Given the description of an element on the screen output the (x, y) to click on. 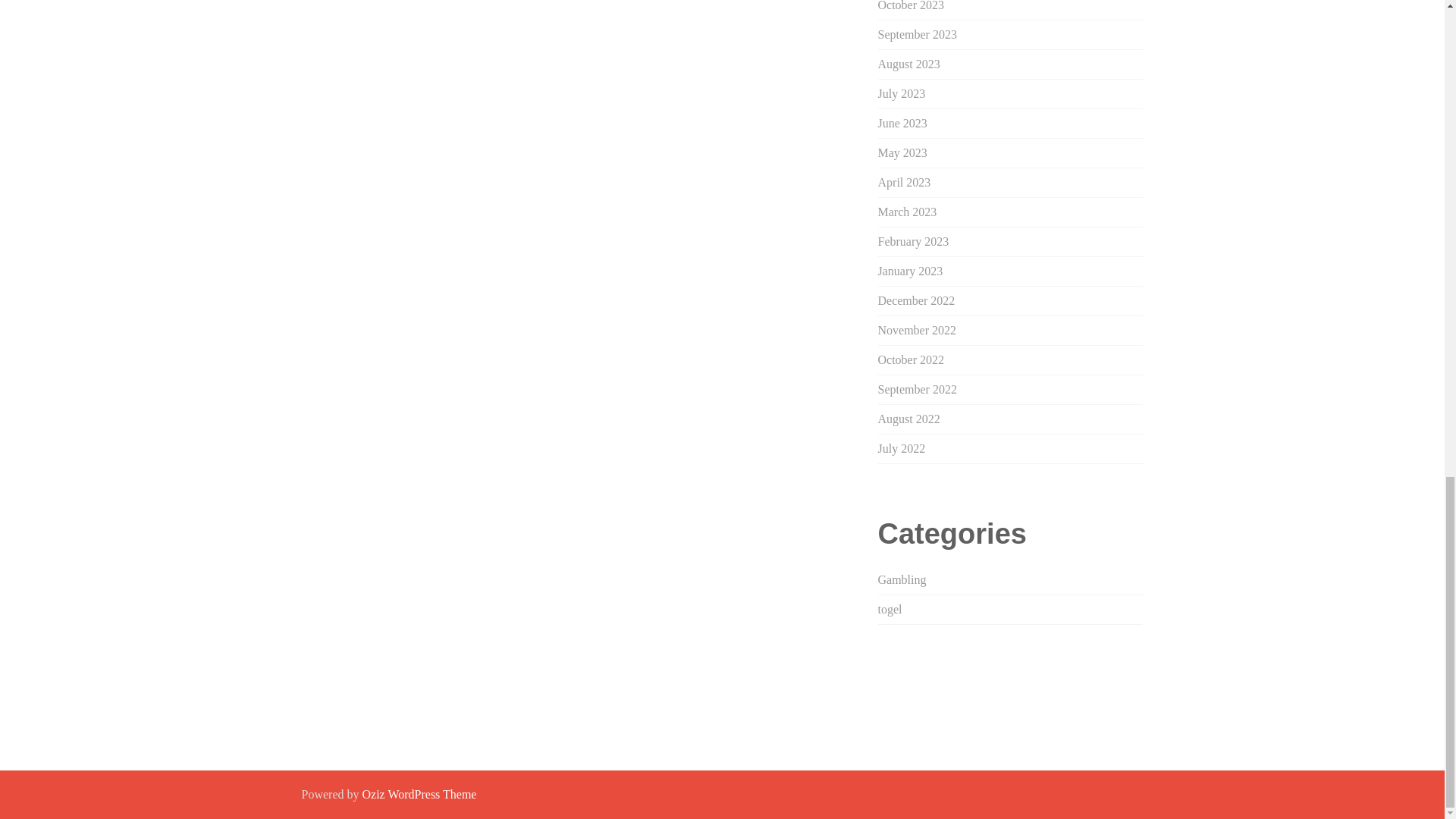
January 2023 (910, 270)
March 2023 (907, 211)
April 2023 (904, 182)
September 2023 (916, 33)
July 2023 (901, 92)
February 2023 (913, 241)
October 2023 (910, 5)
October 2022 (910, 359)
November 2022 (916, 329)
August 2023 (908, 63)
